Given the description of an element on the screen output the (x, y) to click on. 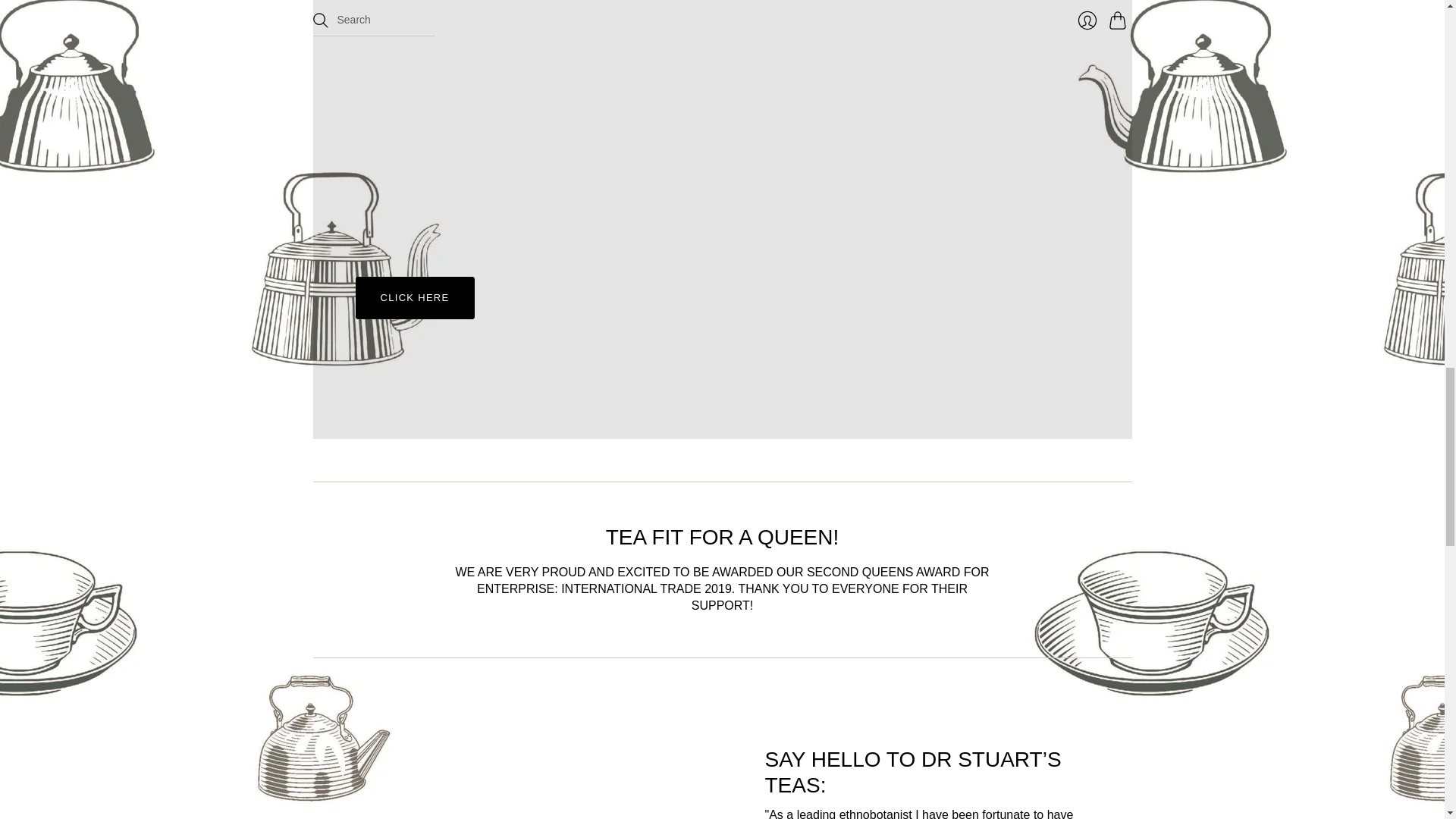
CLICK HERE (414, 297)
